Given the description of an element on the screen output the (x, y) to click on. 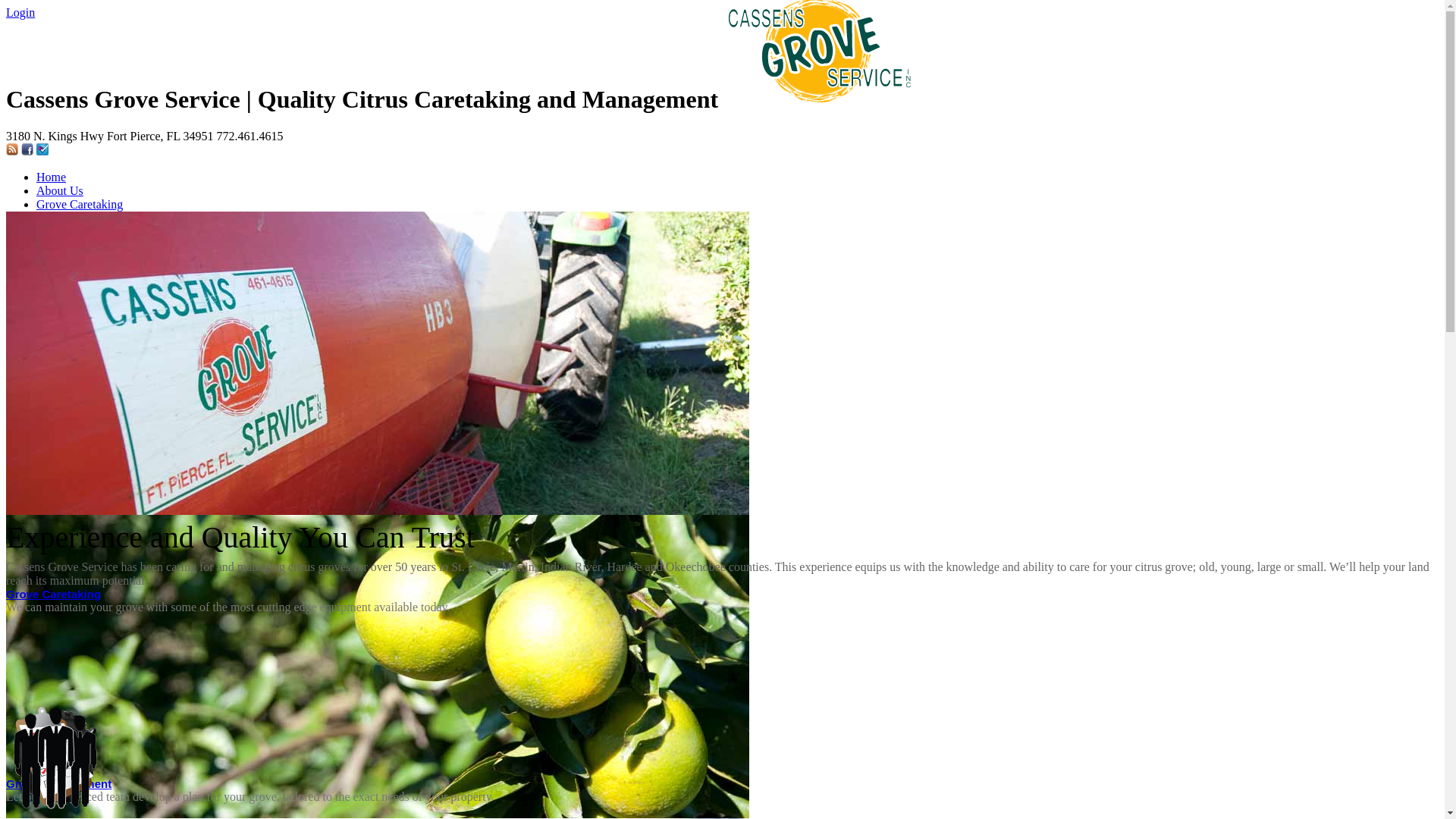
RSS Feed Element type: hover (12, 150)
Cassens Grove Service Element type: hover (818, 98)
Home Element type: text (50, 176)
Grove Management Element type: text (58, 783)
Login Element type: text (20, 12)
Contact Us Element type: text (63, 231)
About Us Element type: text (59, 190)
Grove Caretaking Element type: text (79, 203)
Facebook Element type: hover (27, 150)
Home Element type: text (20, 257)
Grove Management Element type: text (84, 217)
Grove Caretaking Element type: text (53, 593)
